Given the description of an element on the screen output the (x, y) to click on. 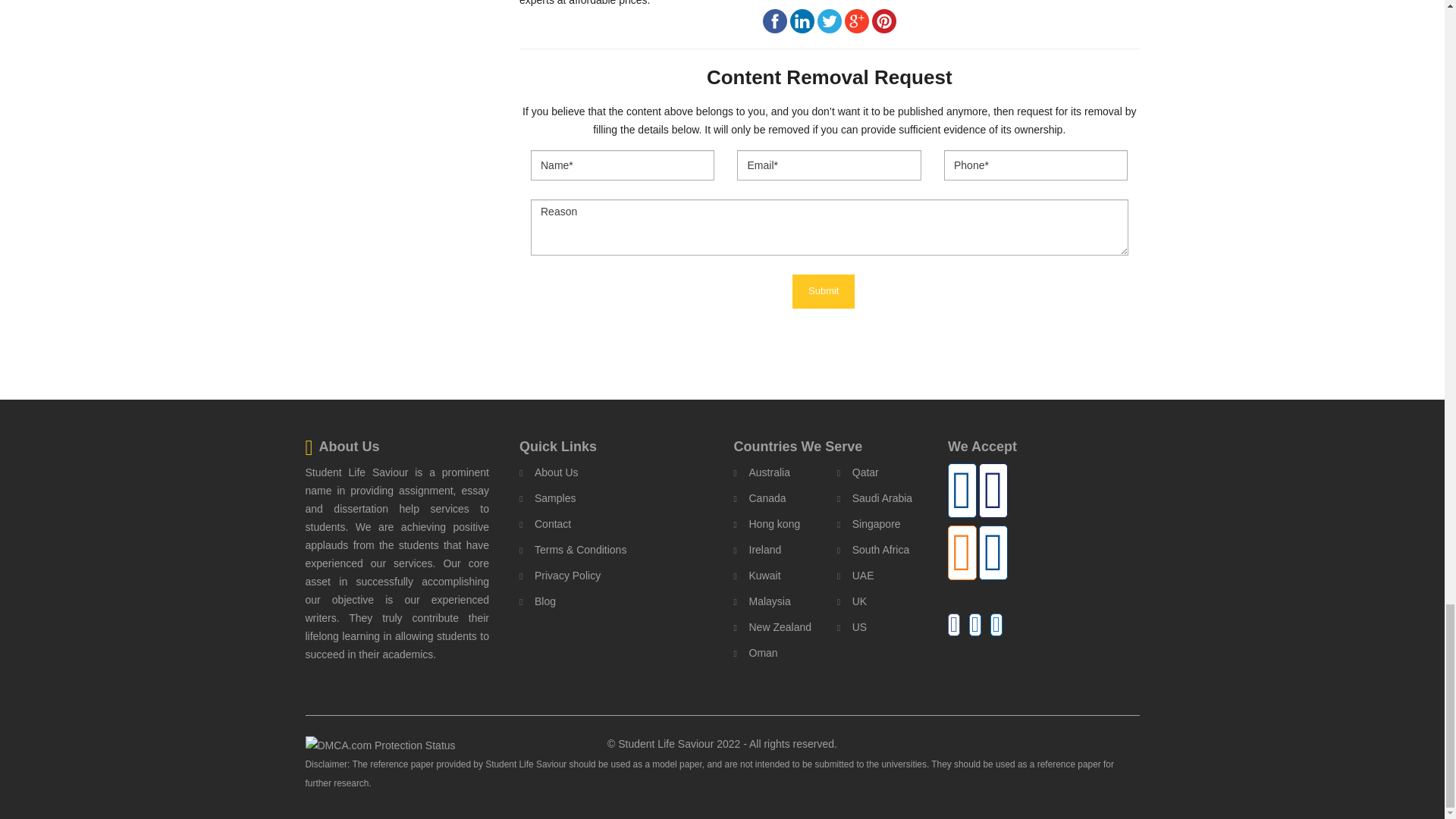
Blog (537, 601)
Contact (544, 524)
About Us (548, 472)
Samples (547, 497)
DMCA.com Protection Status (379, 743)
Submit (823, 291)
Privacy Policy (559, 575)
Submit (823, 291)
